Given the description of an element on the screen output the (x, y) to click on. 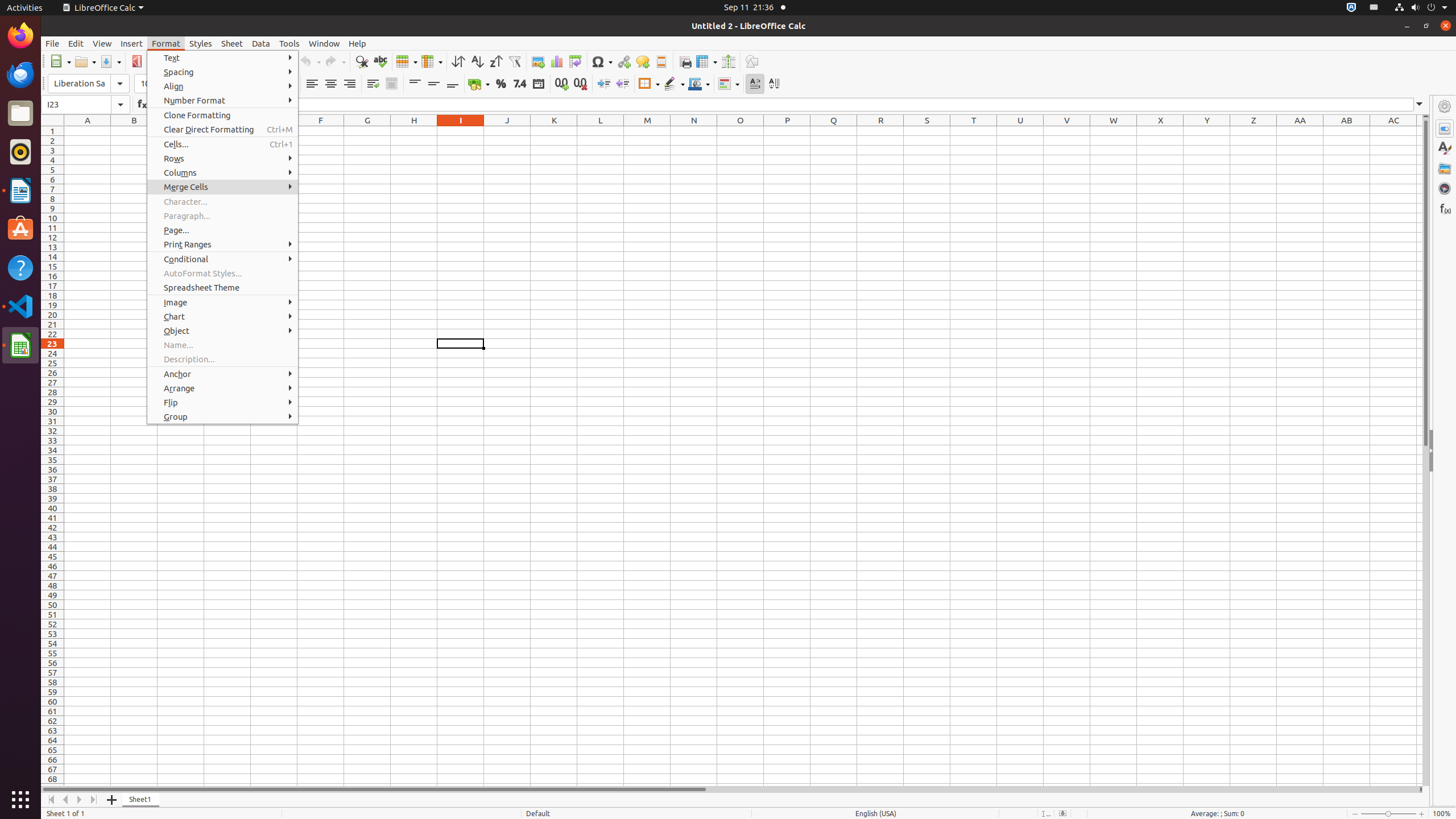
Clear Direct Formatting Element type: menu-item (222, 129)
Page... Element type: menu-item (222, 229)
File Element type: menu (51, 43)
Borders (Shift to overwrite) Element type: push-button (648, 83)
Merge and Center Cells Element type: push-button (391, 83)
